Given the description of an element on the screen output the (x, y) to click on. 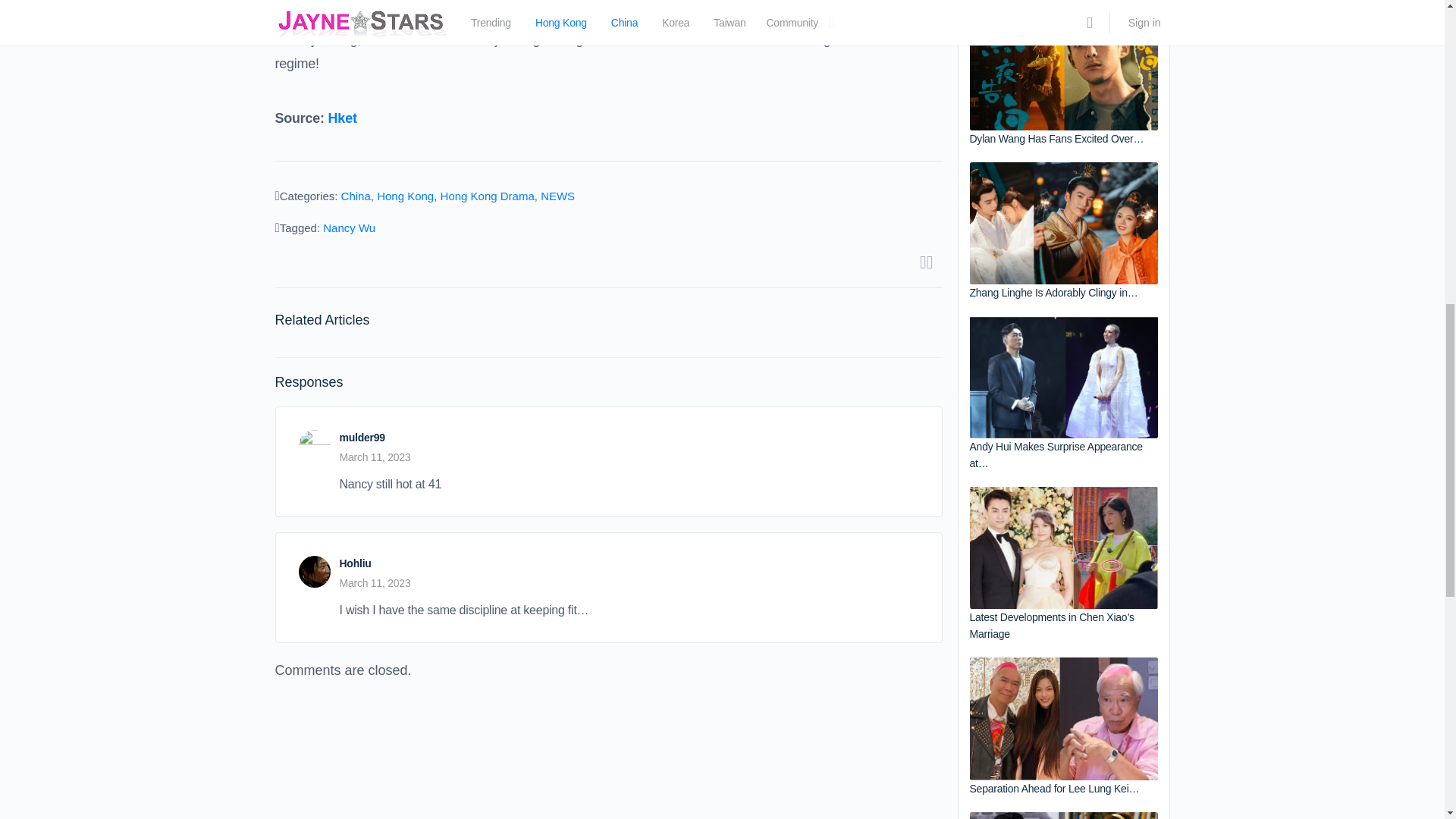
Hket (342, 118)
China (355, 195)
